Given the description of an element on the screen output the (x, y) to click on. 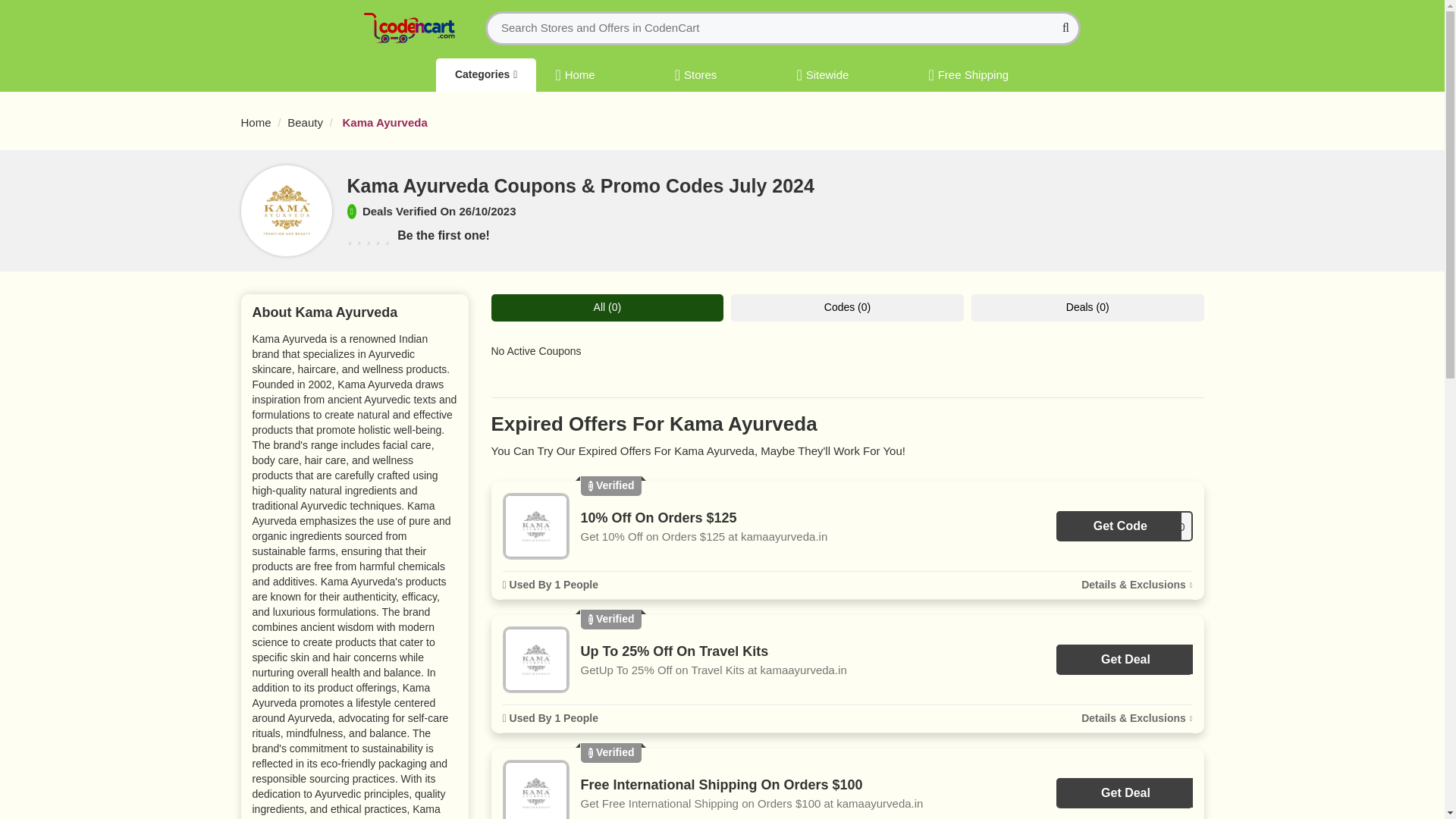
Beauty (304, 122)
Sitewide (822, 72)
Kama Ayurveda (384, 122)
Home (255, 122)
Free Shipping (968, 72)
Categories (485, 74)
Home (574, 72)
Stores (696, 72)
